Given the description of an element on the screen output the (x, y) to click on. 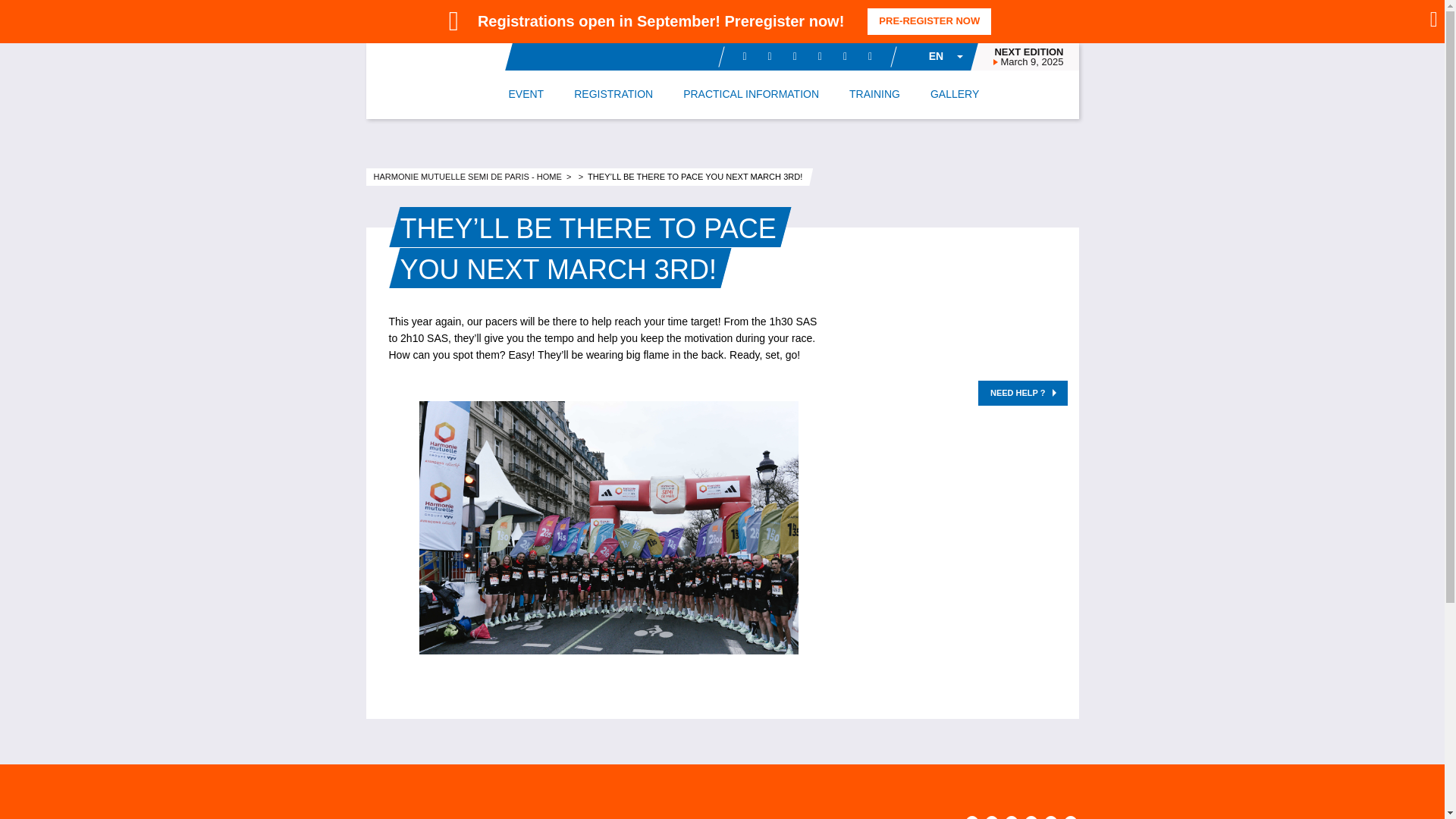
TRAINING (873, 94)
EN (933, 55)
GALLERY (954, 94)
PRACTICAL INFORMATION (750, 94)
REGISTRATION (612, 94)
PRE-REGISTER NOW (928, 21)
